Given the description of an element on the screen output the (x, y) to click on. 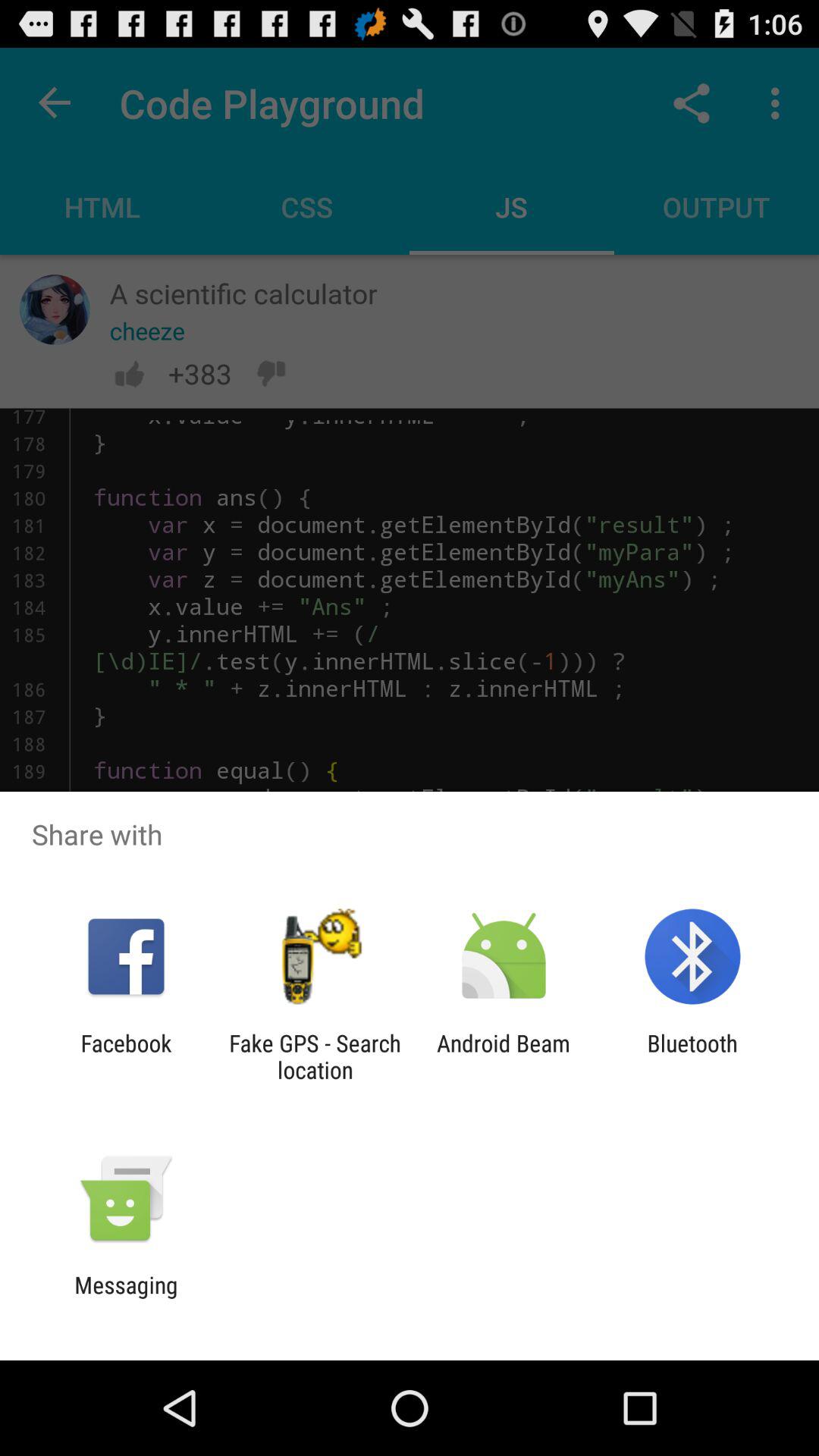
select app to the left of the android beam (314, 1056)
